Given the description of an element on the screen output the (x, y) to click on. 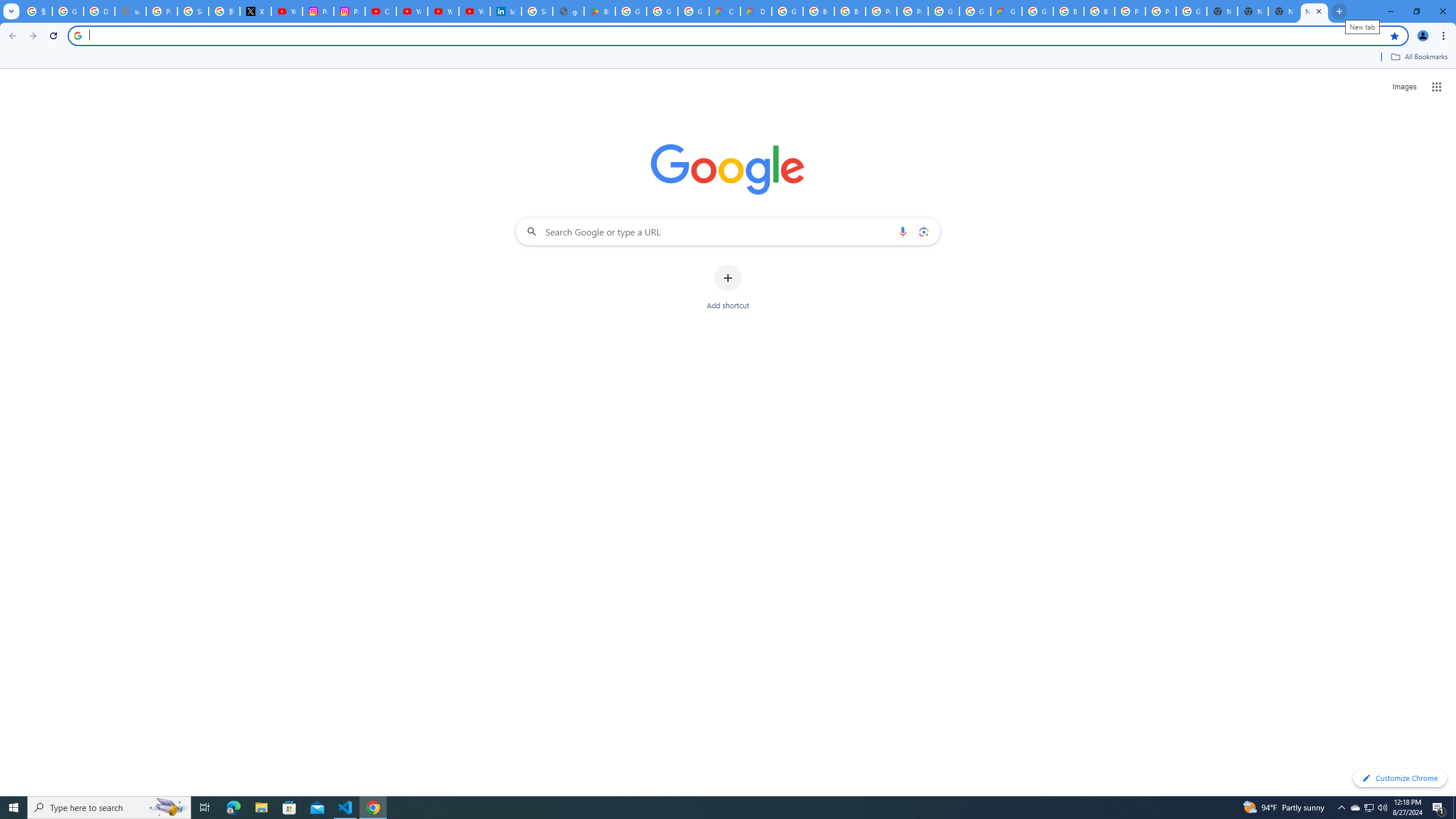
Bluey: Let's Play! - Apps on Google Play (599, 11)
New Tab (1252, 11)
Bookmarks (728, 58)
